Given the description of an element on the screen output the (x, y) to click on. 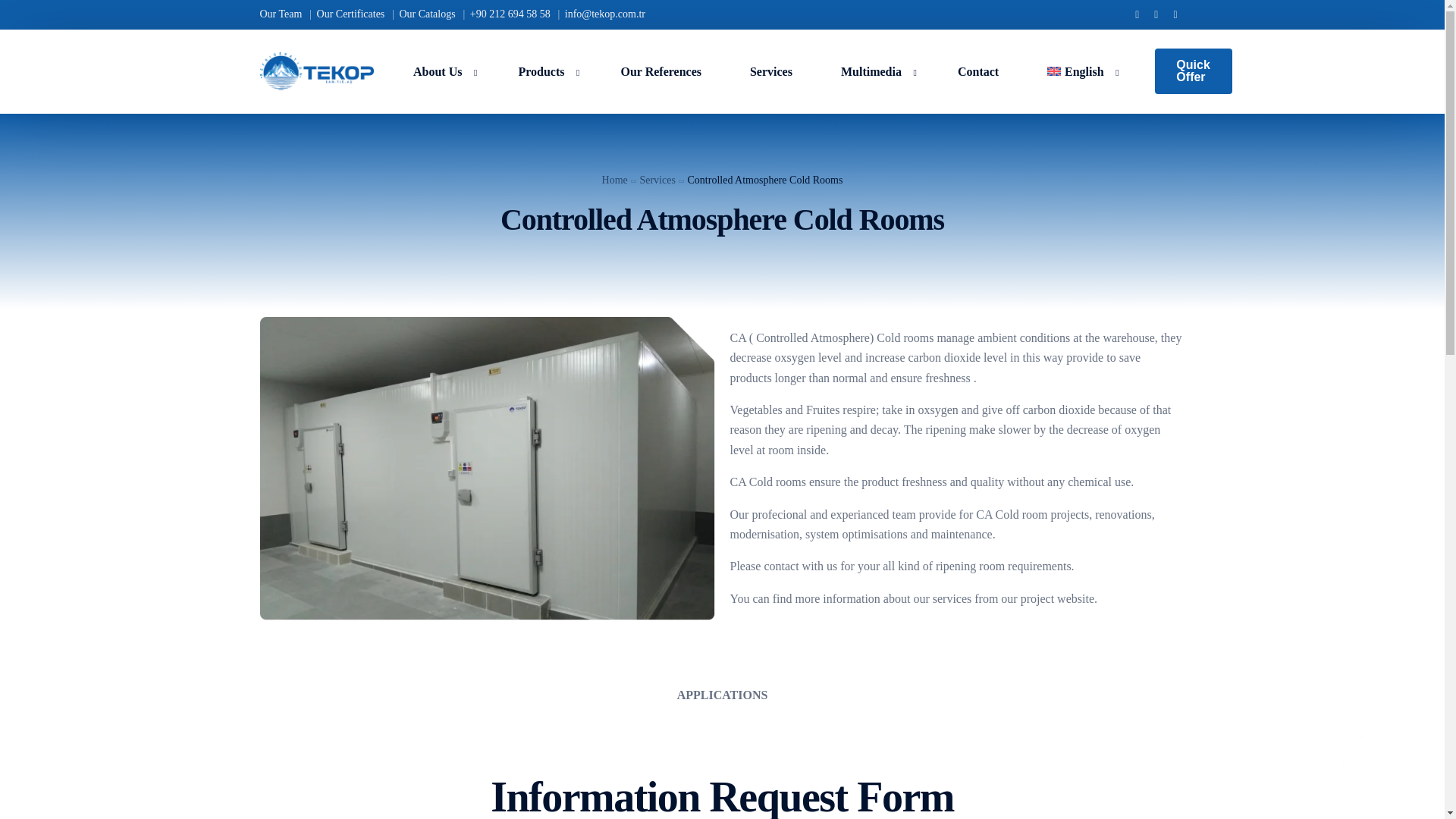
Products (544, 71)
English (1079, 71)
Our Catalogs (427, 13)
Our Certificates (350, 13)
About Us (440, 71)
Our Team (282, 13)
